Given the description of an element on the screen output the (x, y) to click on. 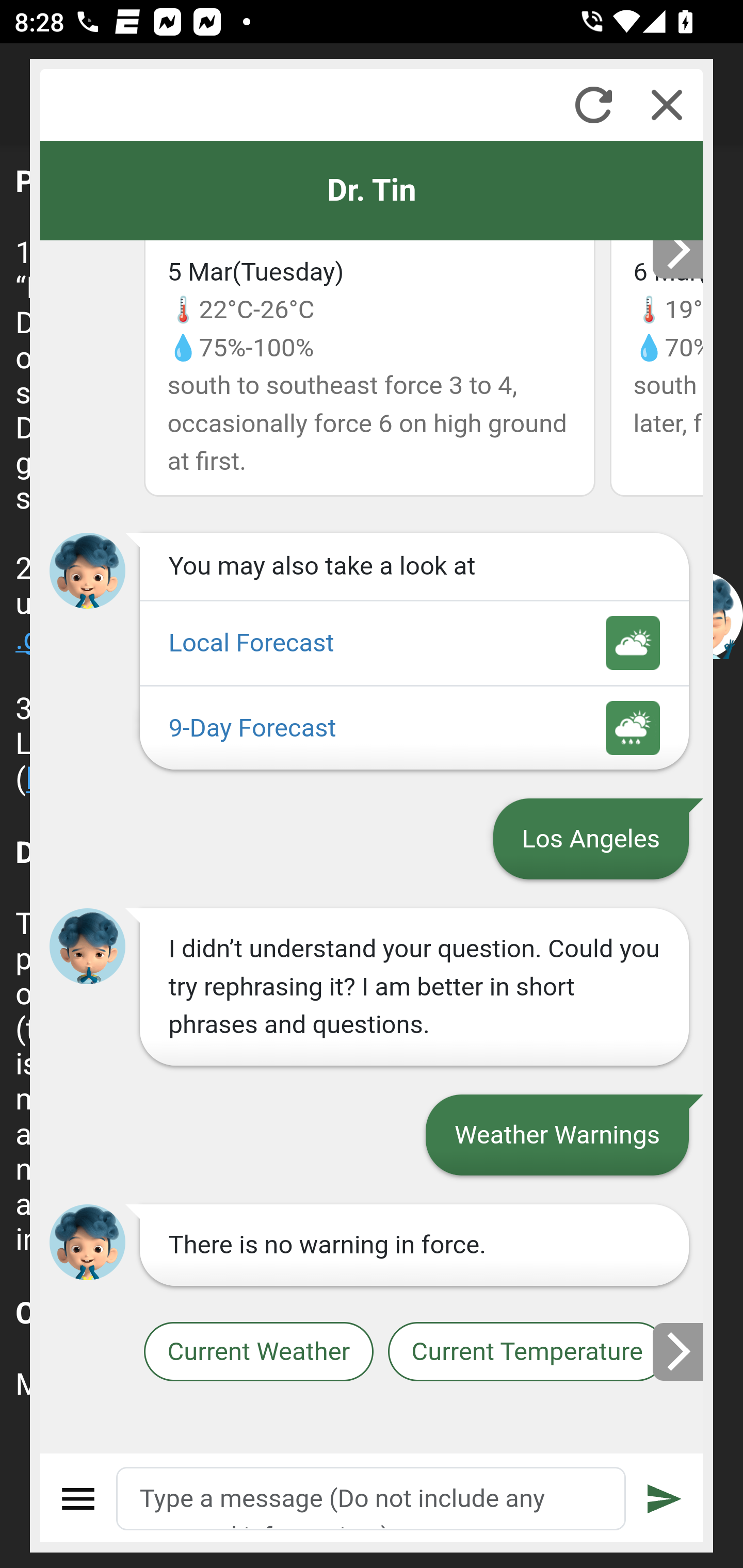
Refresh (593, 104)
Close (666, 104)
Local Forecast (413, 643)
9-Day Forecast (413, 727)
Current Weather (257, 1351)
Current Temperature (526, 1351)
Next slide (678, 1351)
Menu (78, 1498)
Submit (665, 1498)
